Given the description of an element on the screen output the (x, y) to click on. 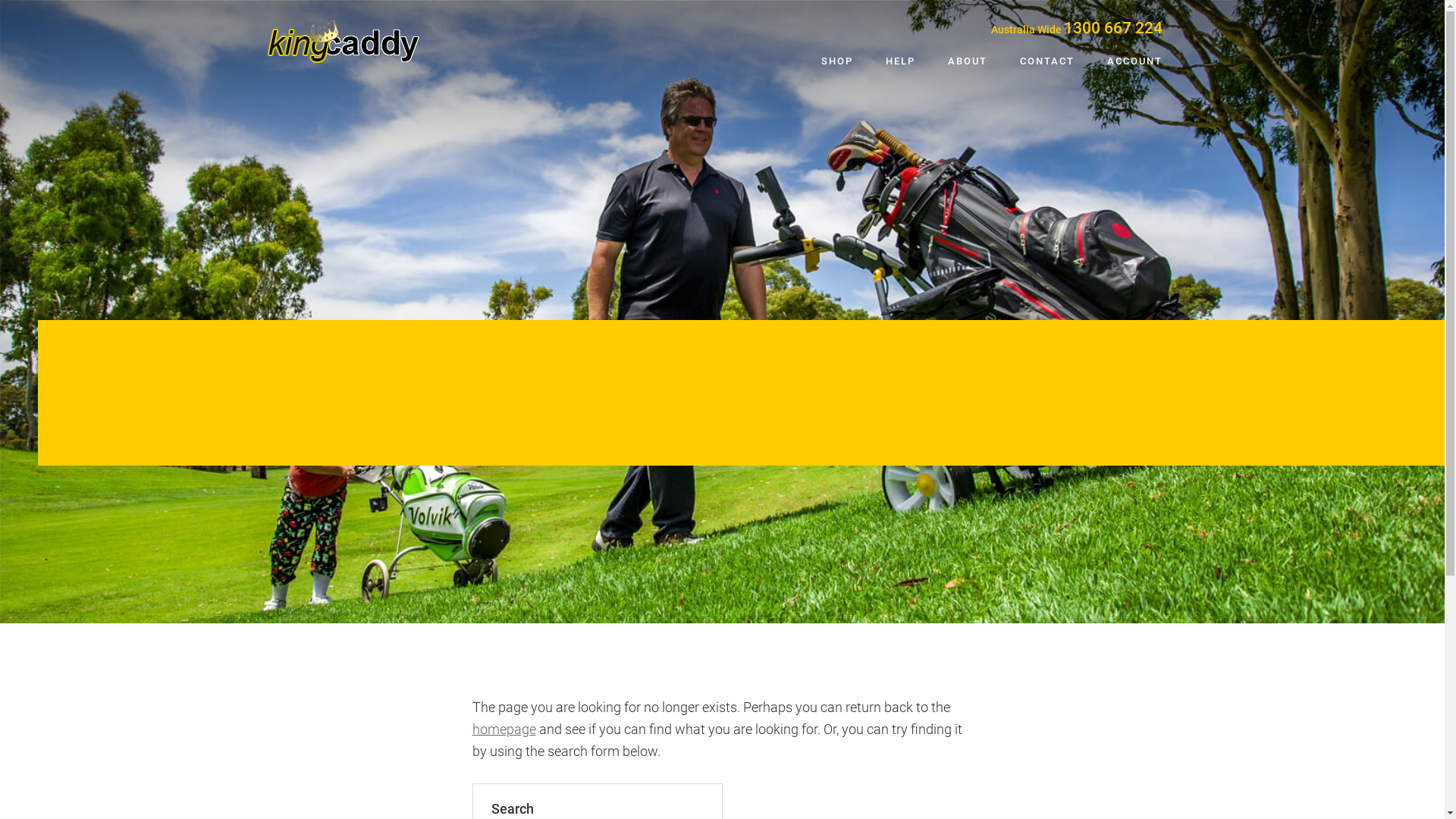
HELP Element type: text (900, 62)
ACCOUNT Element type: text (1134, 62)
SHOP Element type: text (836, 62)
ABOUT Element type: text (967, 62)
homepage Element type: text (503, 729)
Skip to content Element type: text (0, 0)
CONTACT Element type: text (1046, 62)
